Given the description of an element on the screen output the (x, y) to click on. 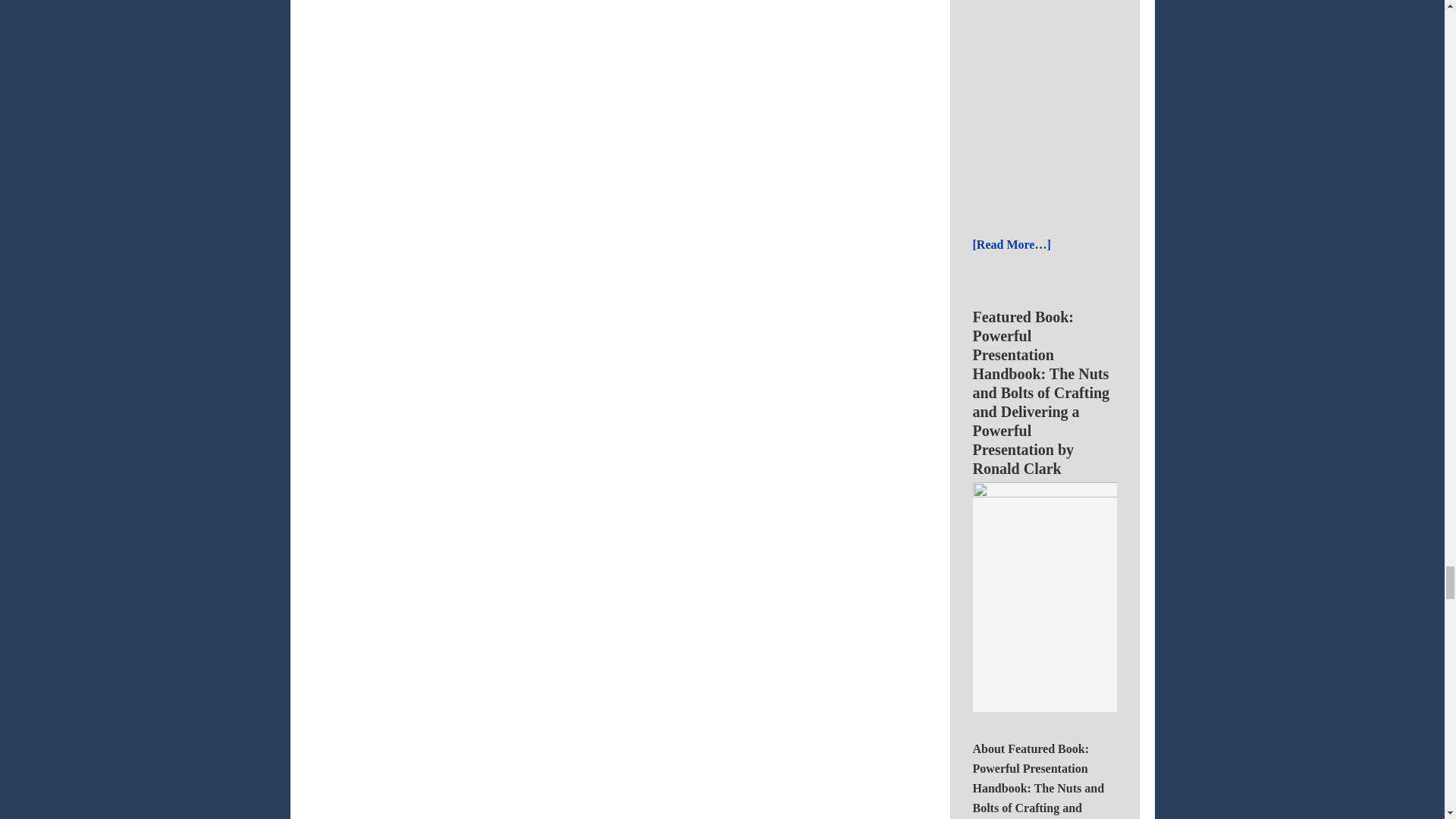
PSYCHIC ECHOES HD mp4 1 (1161, 104)
